Given the description of an element on the screen output the (x, y) to click on. 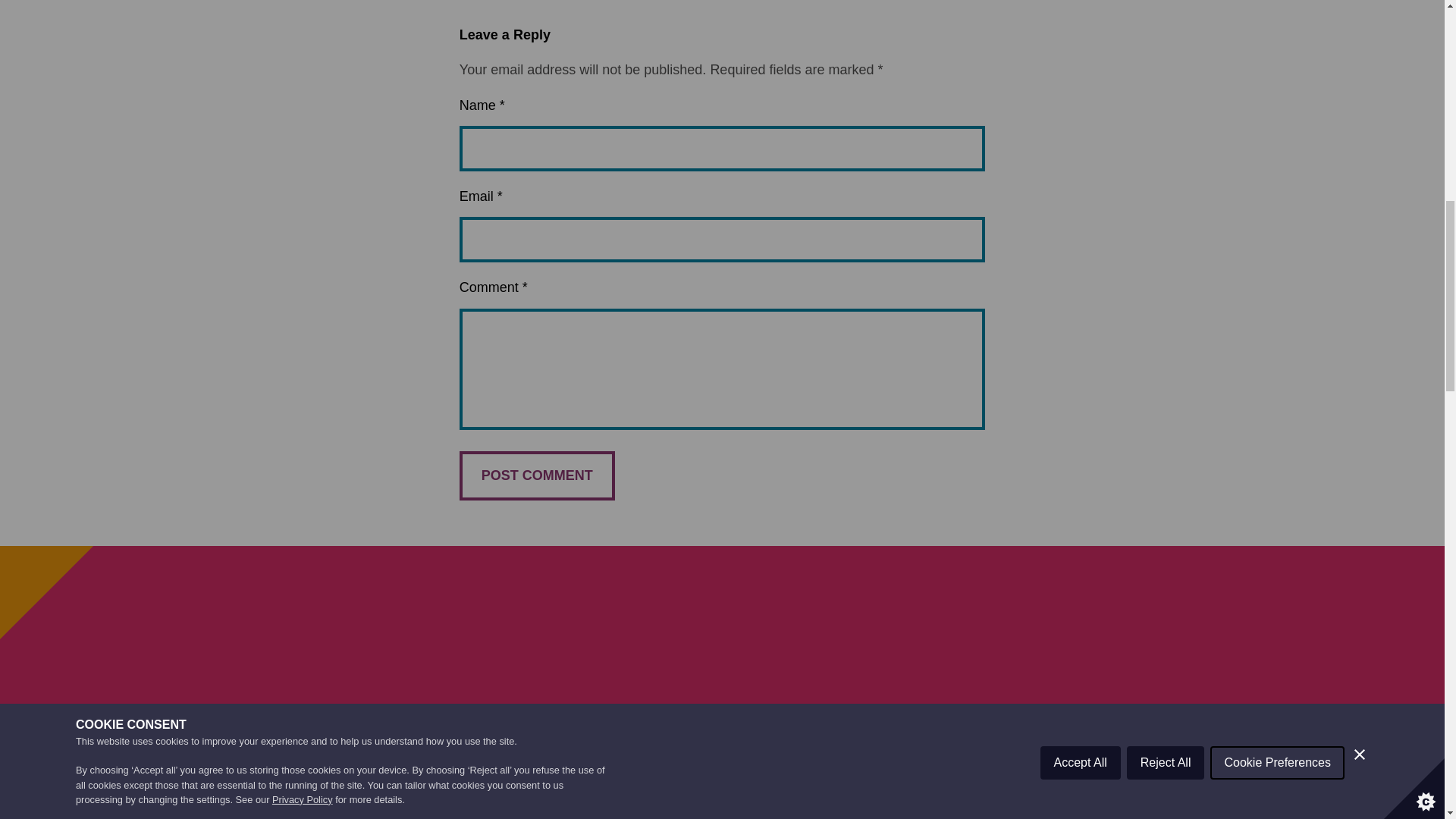
Privacy Policy (302, 38)
Accept All (1081, 0)
